Given the description of an element on the screen output the (x, y) to click on. 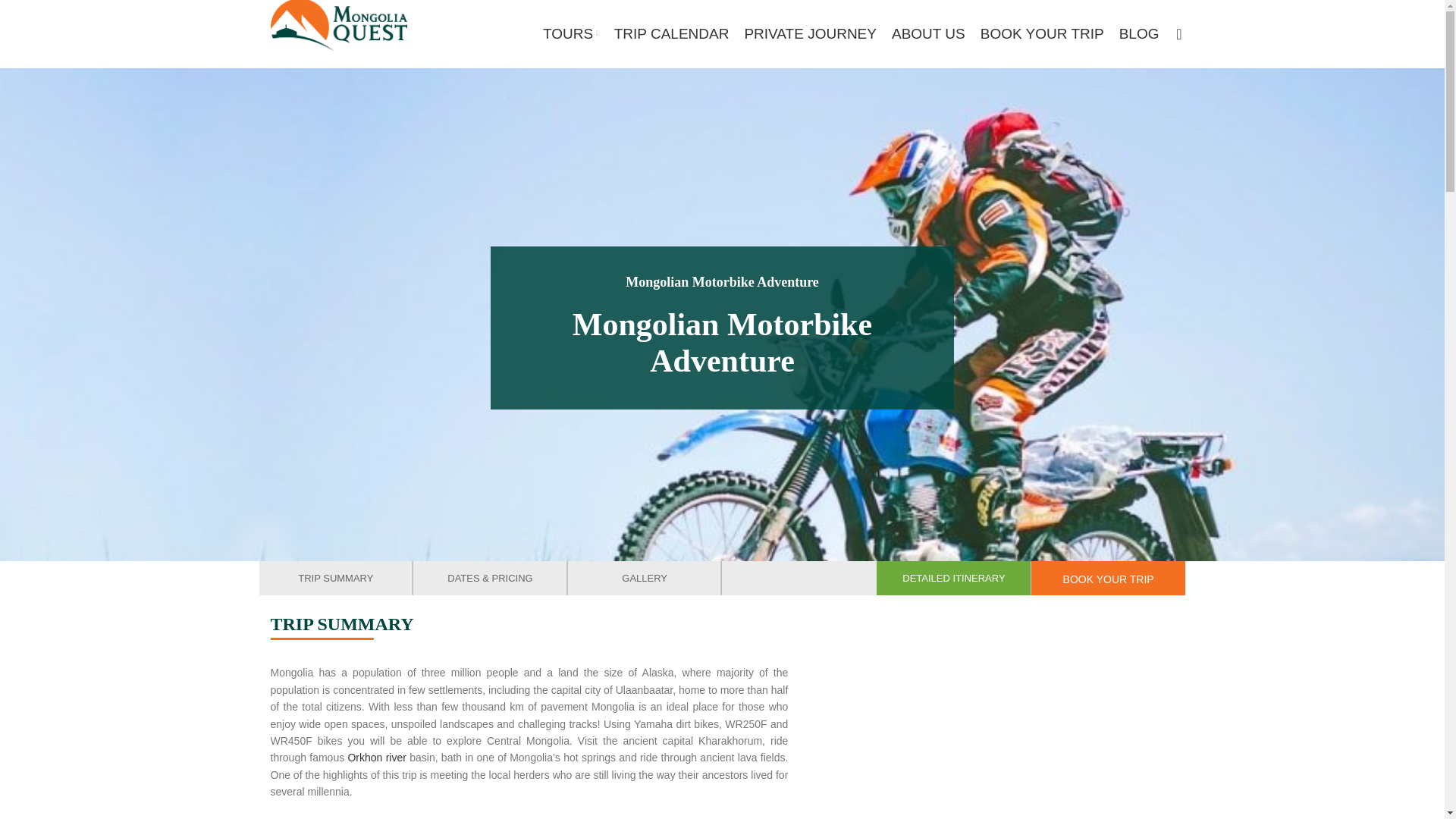
BOOK YOUR TRIP (1108, 578)
Active adventures (722, 281)
TRIP CALENDAR (671, 33)
Mongolian Motorbike Adventure (722, 342)
BLOG (1138, 33)
BOOK YOUR TRIP (1041, 33)
Mongolian Motorbike Adventure (722, 342)
PRIVATE JOURNEY (810, 33)
Mongolian Motorbike Adventure (722, 281)
ABOUT US (928, 33)
Orkhon river (376, 757)
GALLERY (644, 578)
TOURS (570, 33)
TRIP SUMMARY (336, 578)
